Given the description of an element on the screen output the (x, y) to click on. 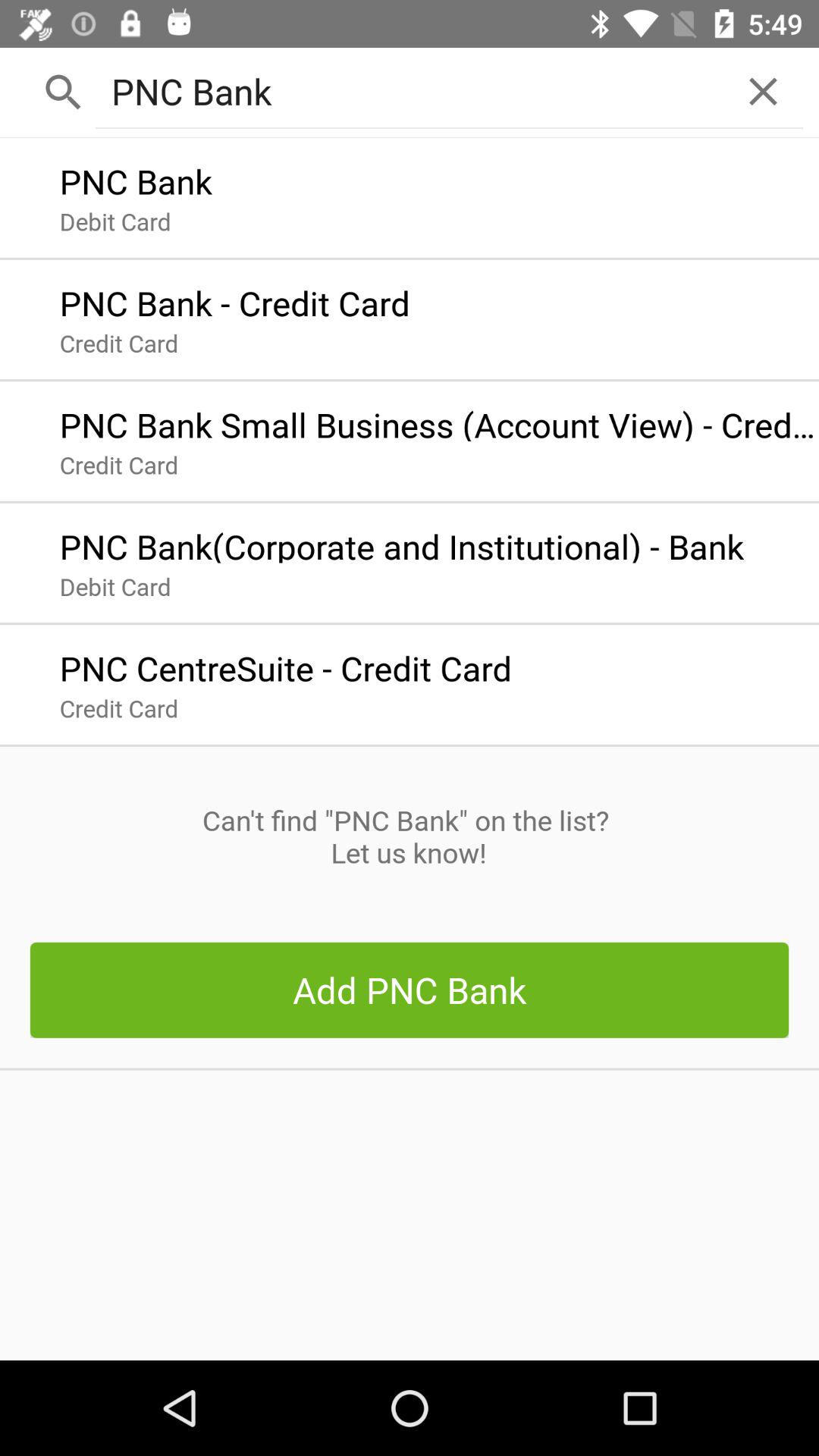
tap pnc centresuite credit app (285, 664)
